Given the description of an element on the screen output the (x, y) to click on. 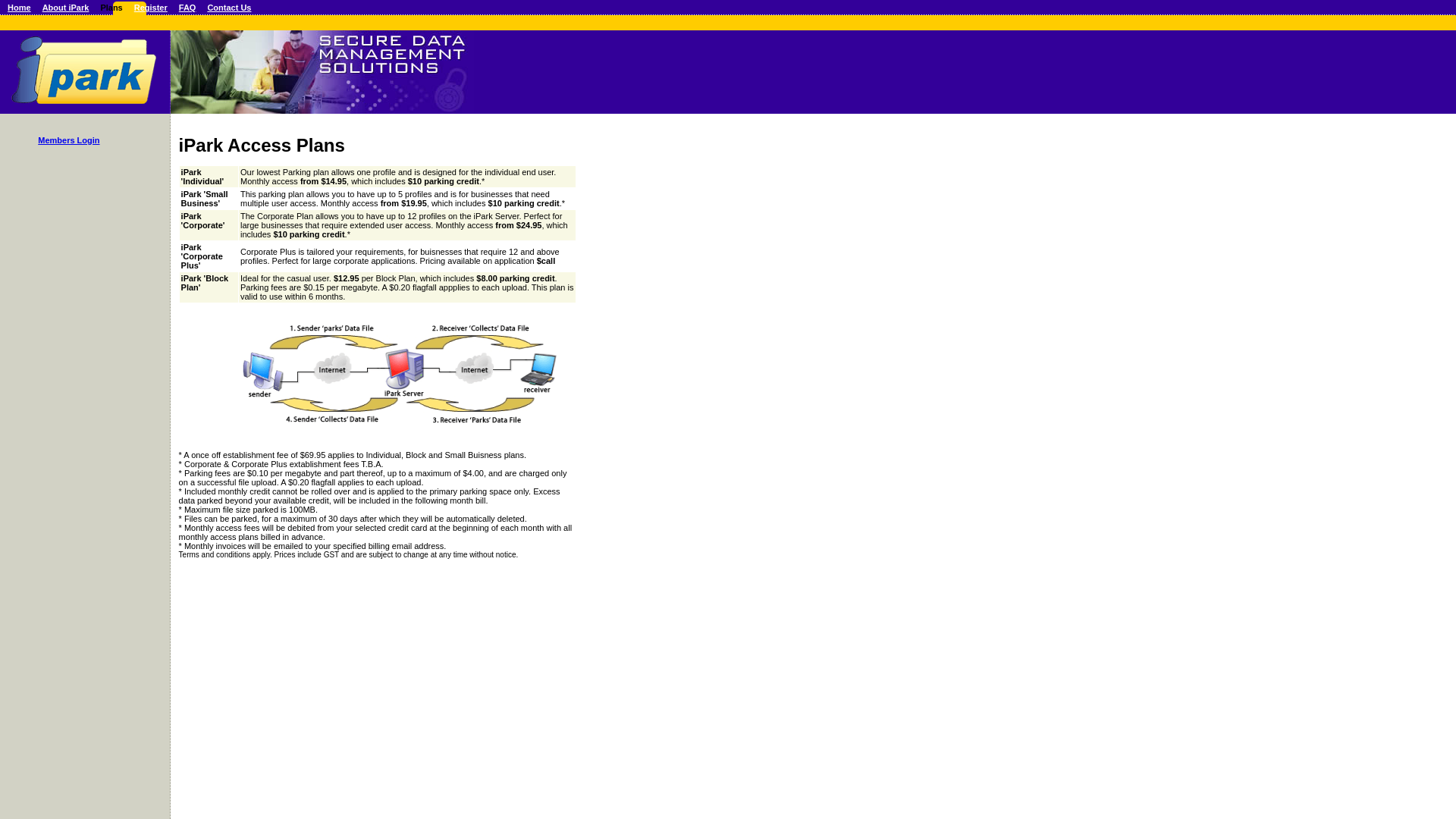
FAQ Element type: text (187, 7)
Members Login Element type: text (68, 139)
About iPark Element type: text (65, 7)
Register Element type: text (150, 7)
Home Element type: text (19, 7)
Contact Us Element type: text (229, 7)
